Given the description of an element on the screen output the (x, y) to click on. 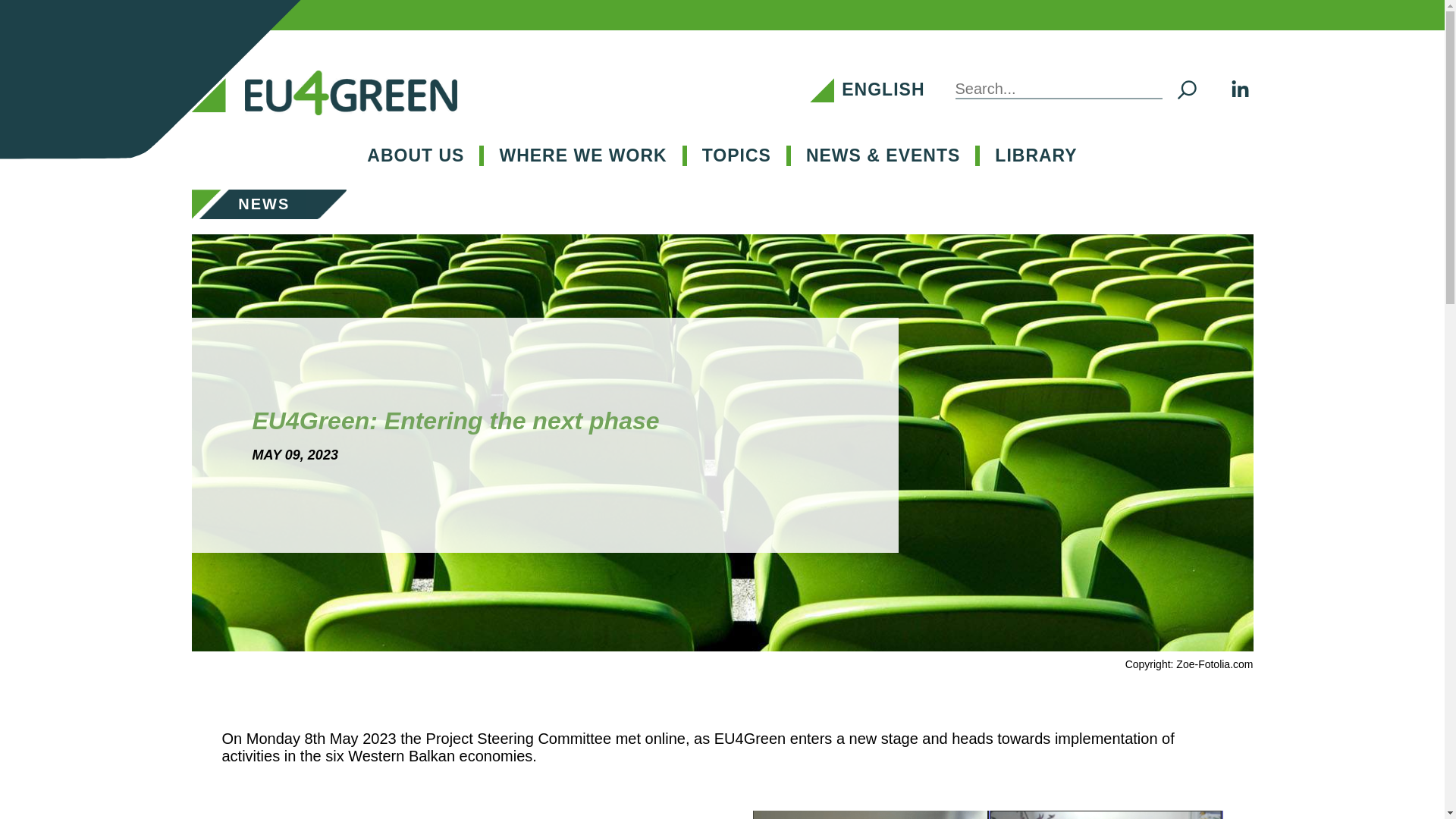
Search... (1058, 89)
ABOUT US (415, 155)
Icon for search button (1185, 89)
This is a logo for EU4Green (350, 92)
Icon for Linkedin social media (1239, 89)
Enter text to search the website (1091, 89)
TOPICS (736, 155)
ENGLISH (882, 89)
WHERE WE WORK (582, 155)
